Given the description of an element on the screen output the (x, y) to click on. 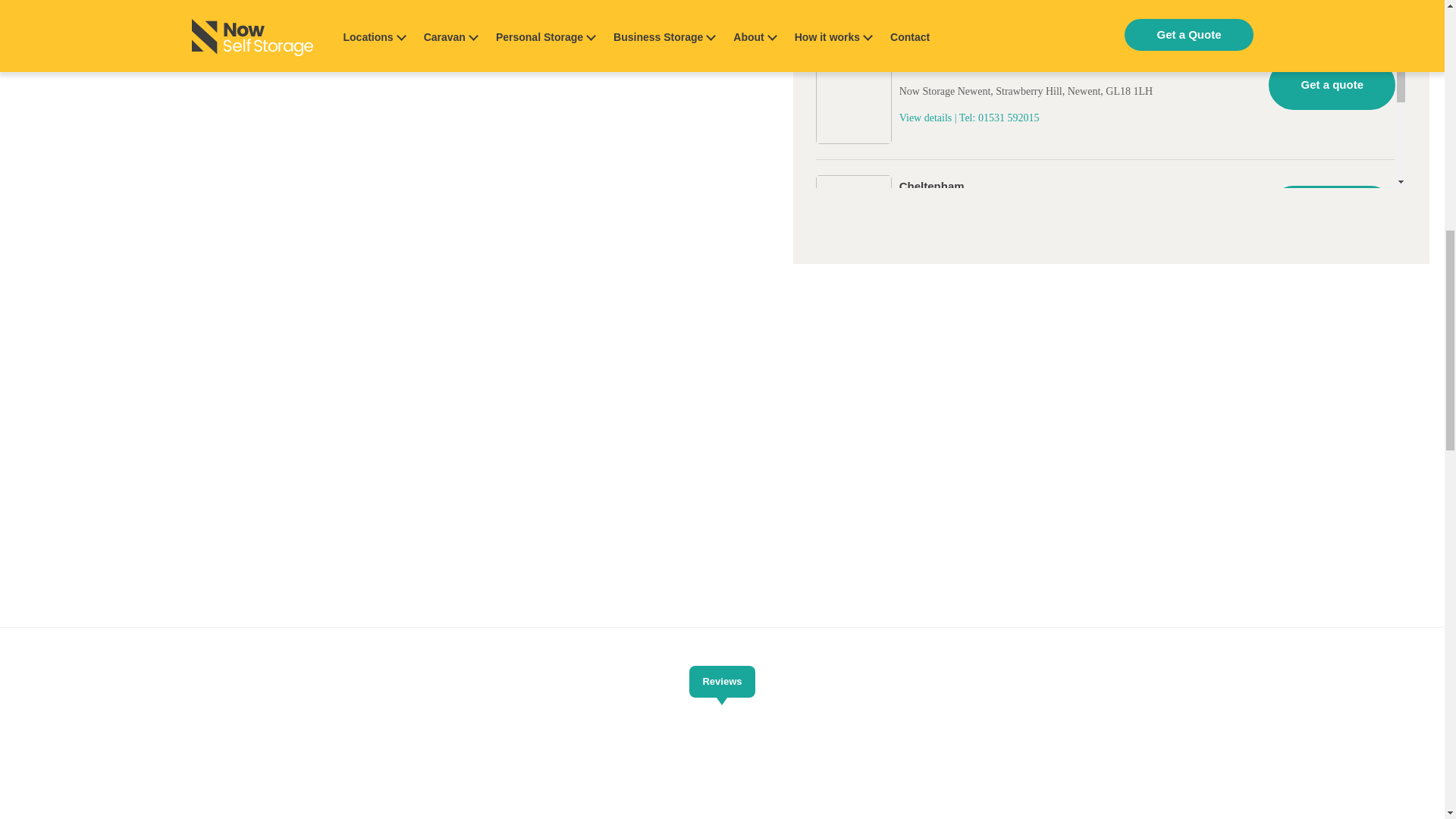
Reviews Carousel Inline Widget (721, 765)
